Given the description of an element on the screen output the (x, y) to click on. 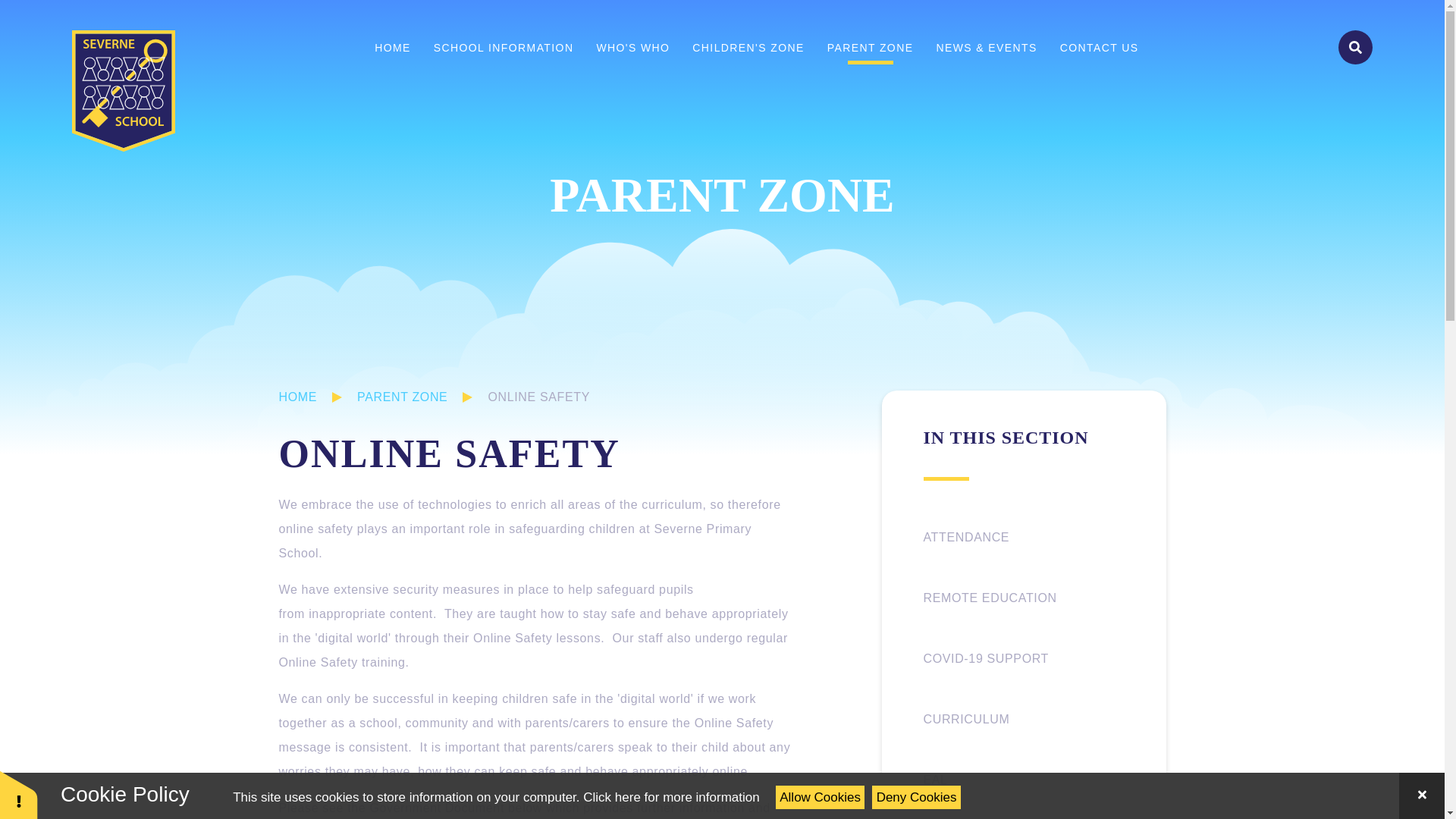
Deny Cookies (915, 797)
See cookie policy (670, 797)
SCHOOL INFORMATION (503, 47)
HOME (392, 47)
Cookie Settings (18, 794)
Allow Cookies (820, 797)
